Given the description of an element on the screen output the (x, y) to click on. 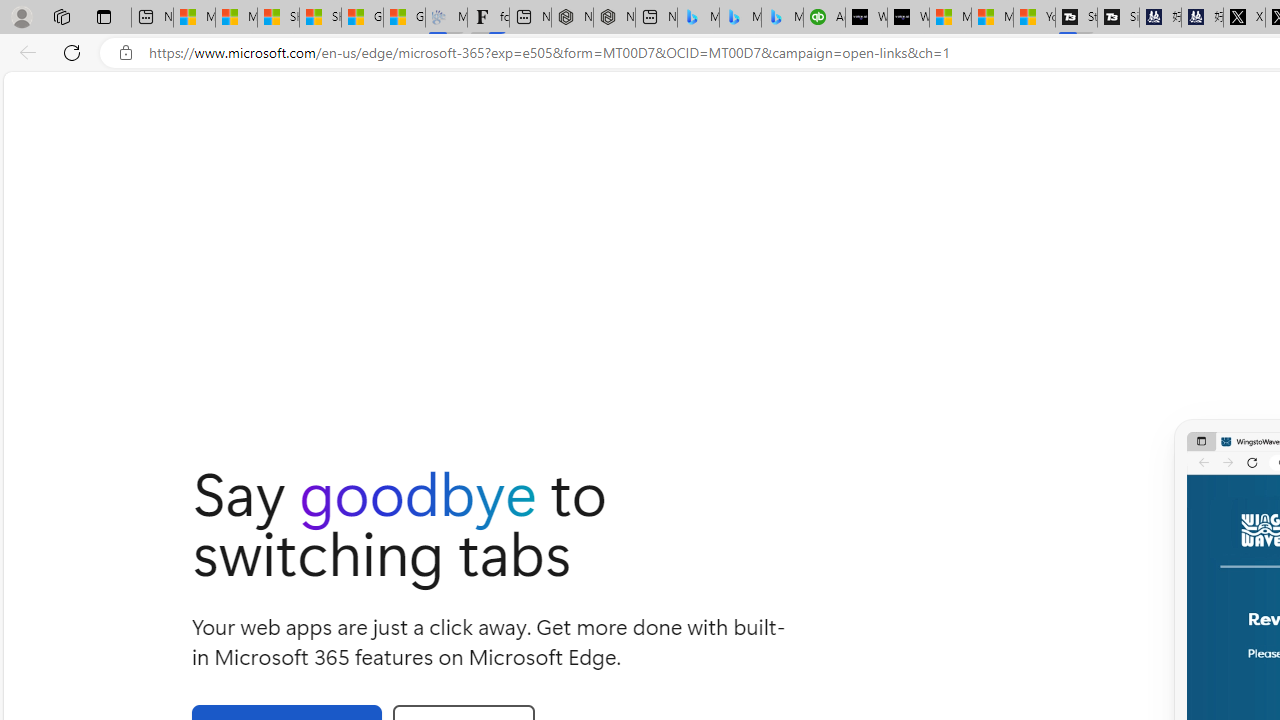
Accounting Software for Accountants, CPAs and Bookkeepers (823, 17)
